Given the description of an element on the screen output the (x, y) to click on. 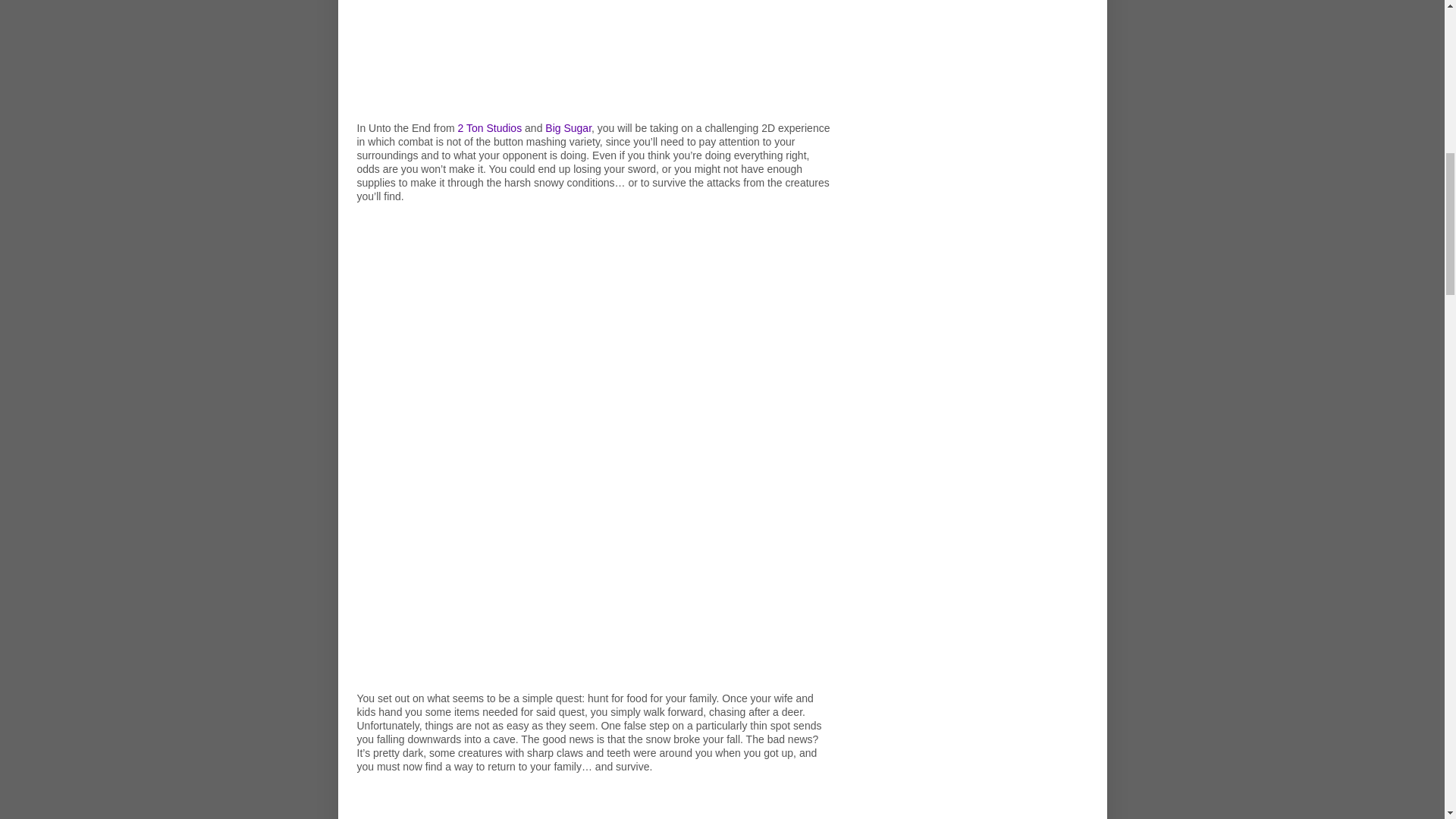
2 Ton Studios (490, 128)
Big Sugar (567, 128)
